Given the description of an element on the screen output the (x, y) to click on. 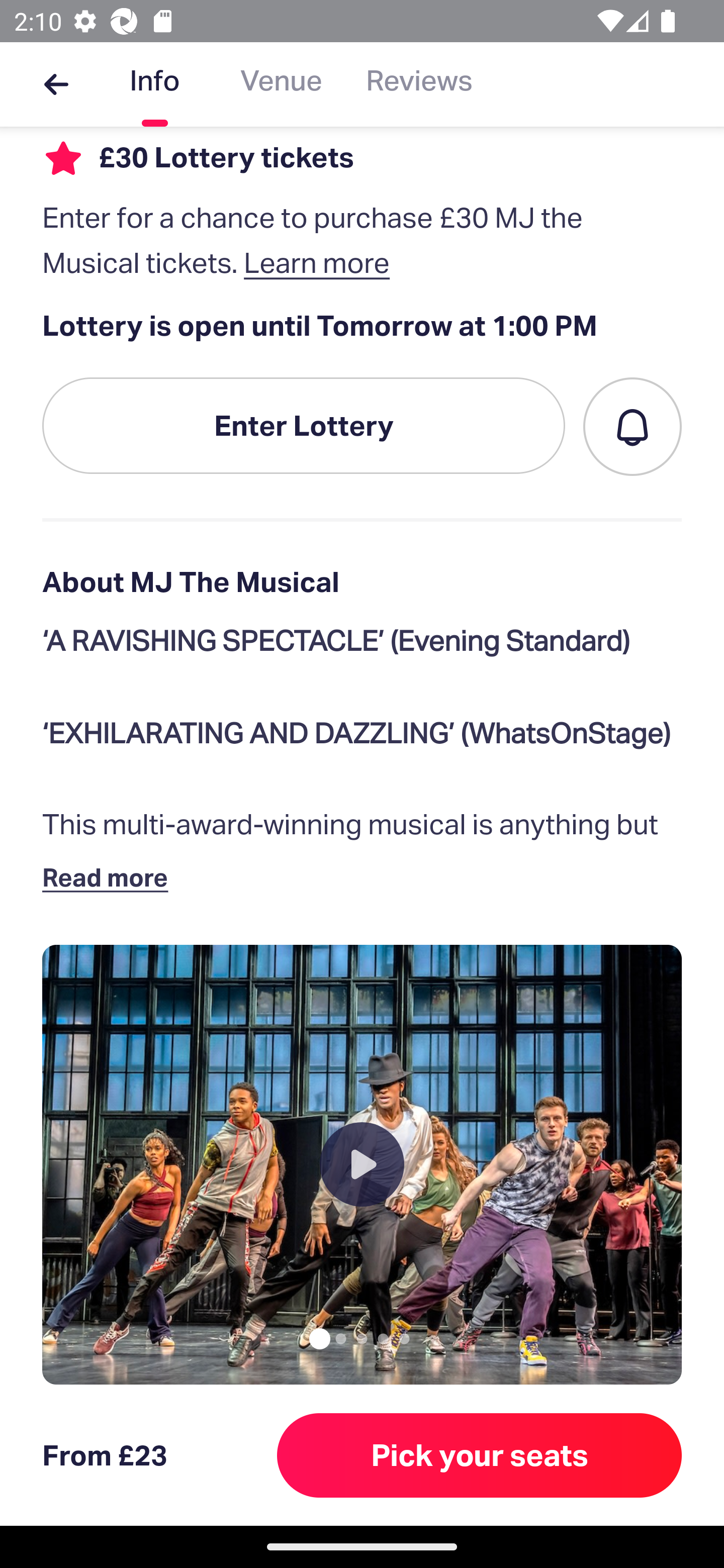
Venue (280, 84)
Reviews (419, 84)
Enter Lottery (303, 425)
About MJ The Musical (361, 582)
Read more (109, 877)
Pick your seats (479, 1454)
